Given the description of an element on the screen output the (x, y) to click on. 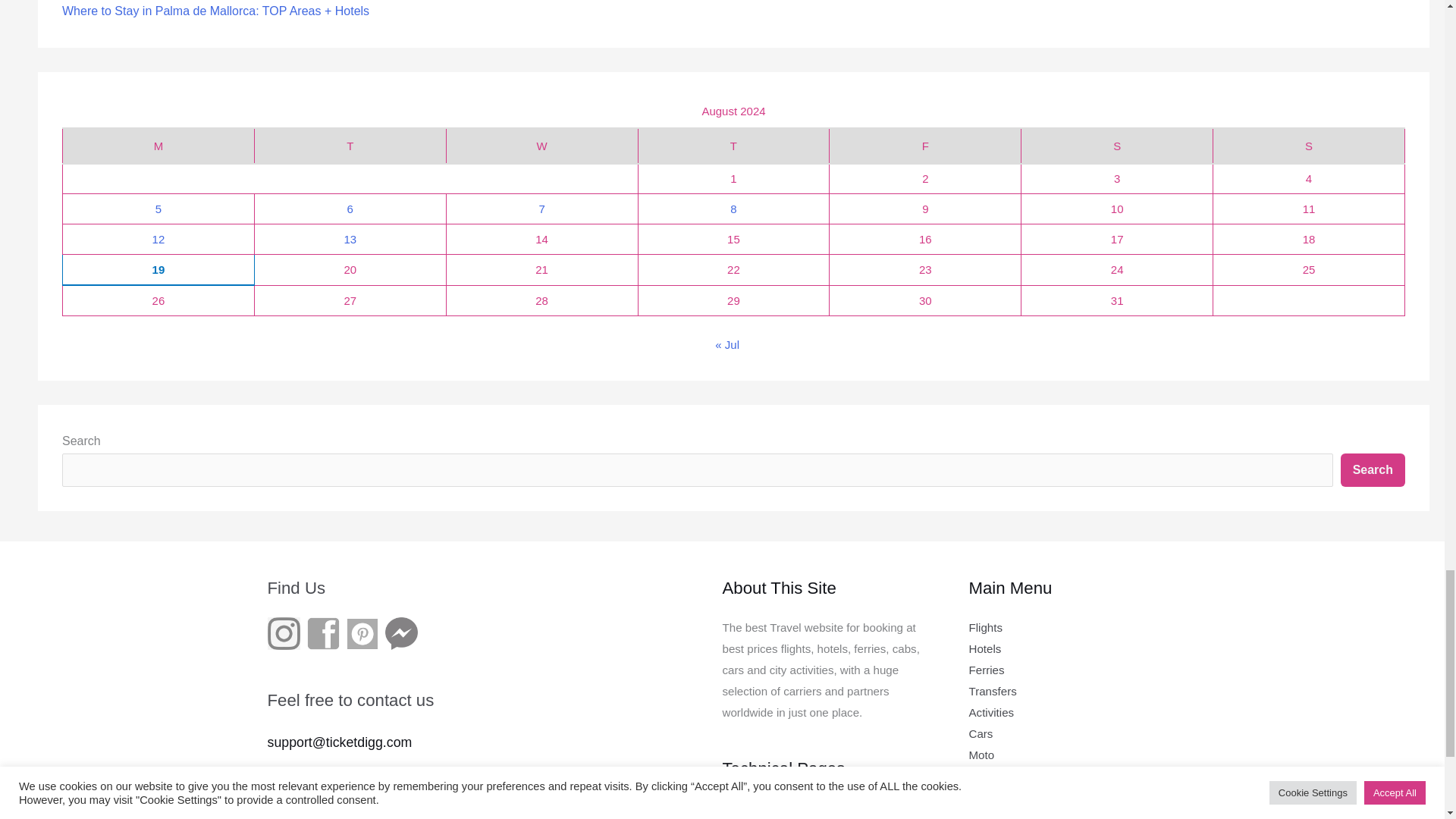
Tuesday (349, 145)
Monday (157, 145)
Wednesday (541, 145)
